Given the description of an element on the screen output the (x, y) to click on. 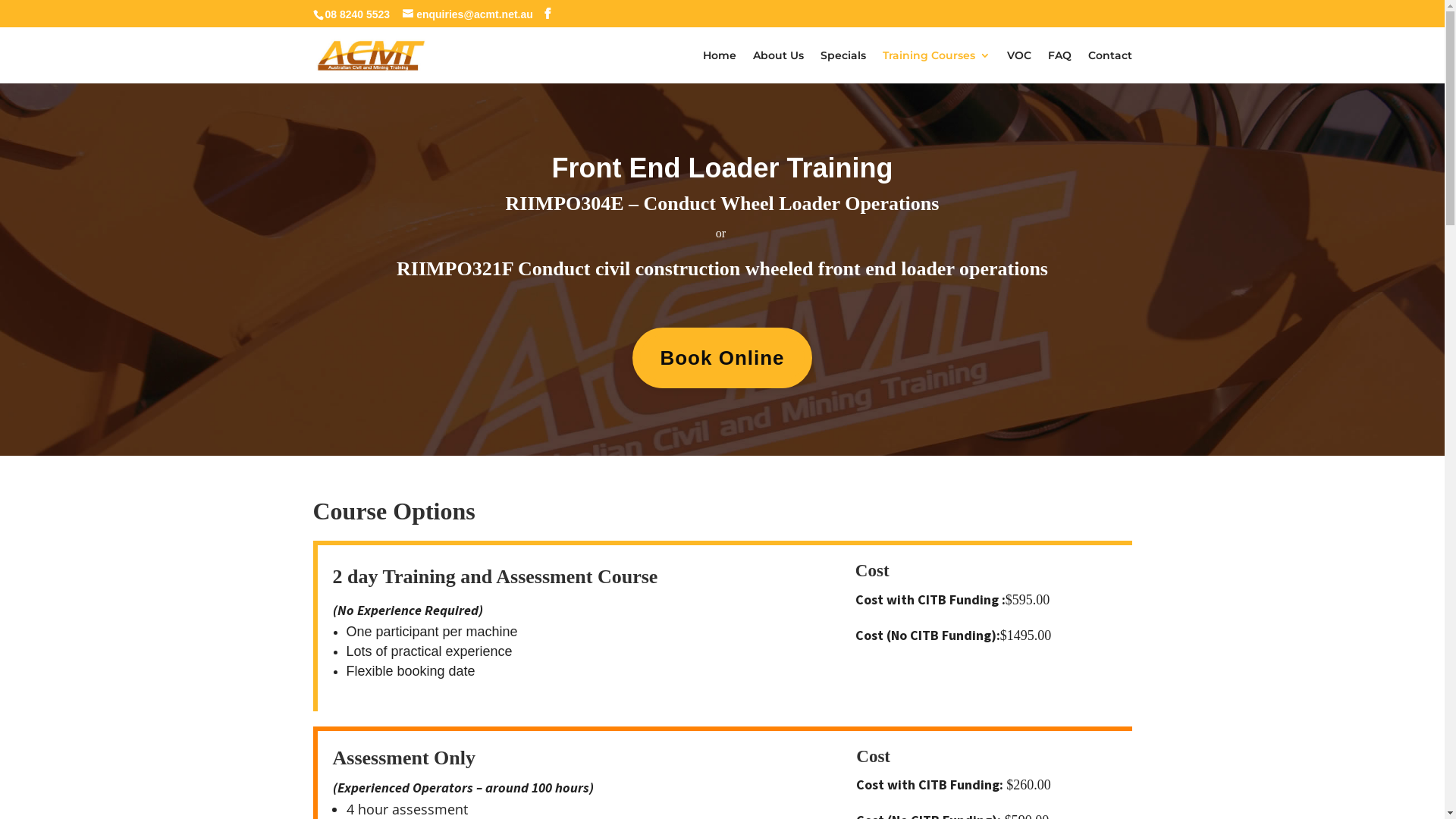
Home Element type: text (718, 66)
Training Courses Element type: text (936, 66)
VOC Element type: text (1019, 66)
Contact Element type: text (1109, 66)
About Us Element type: text (777, 66)
Book Online Element type: text (721, 357)
FAQ Element type: text (1059, 66)
Specials Element type: text (843, 66)
08 8240 5523 Element type: text (356, 13)
enquiries@acmt.net.au Element type: text (467, 13)
